Given the description of an element on the screen output the (x, y) to click on. 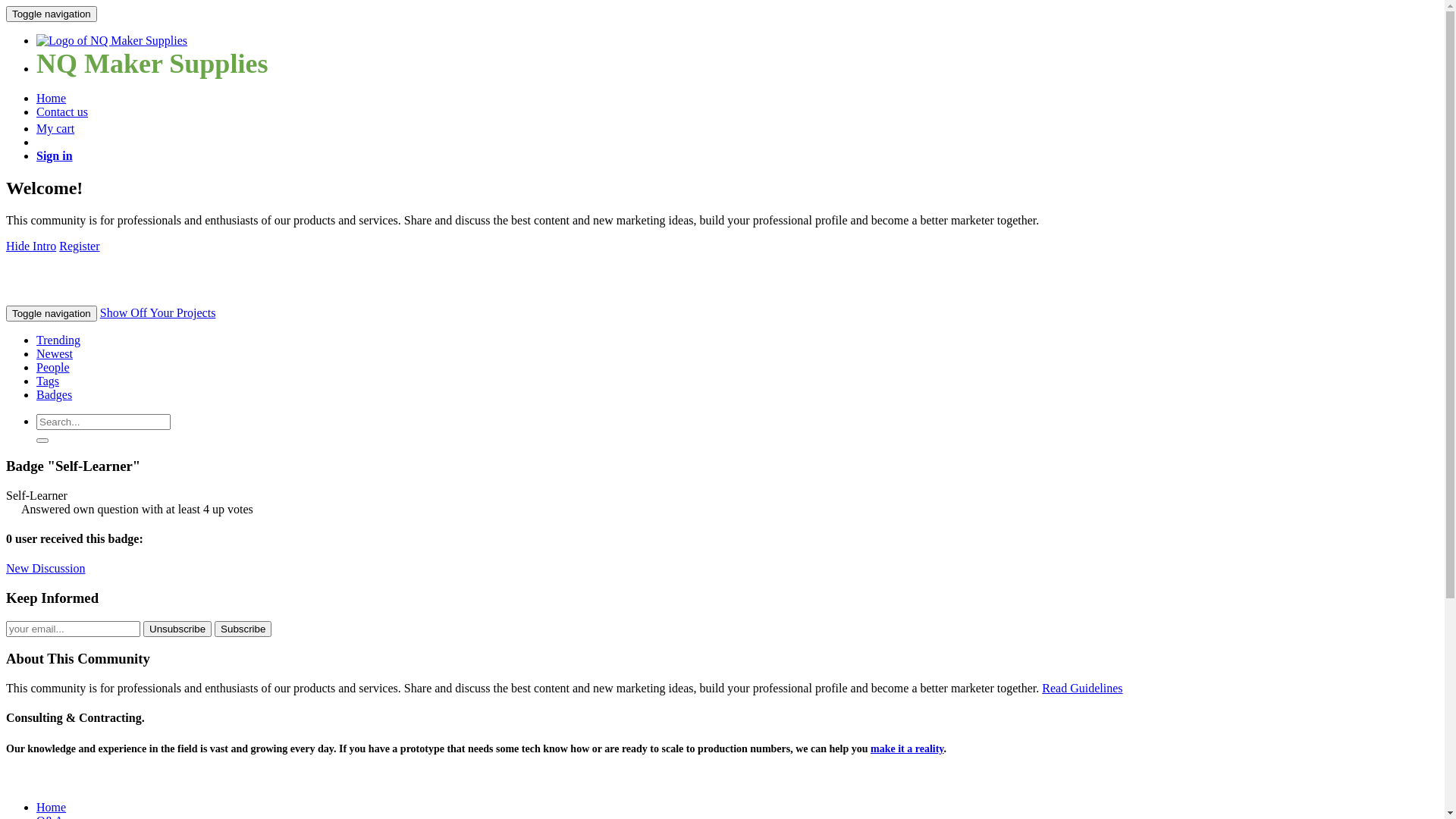
Tags Element type: text (47, 380)
Show Off Your Projects Element type: text (158, 312)
Register Element type: text (79, 245)
Hide Intro Element type: text (31, 245)
Toggle navigation Element type: text (51, 313)
NQ Maker Supplies Element type: text (151, 68)
Read Guidelines Element type: text (1081, 687)
make it a reality Element type: text (907, 748)
Sign in Element type: text (54, 155)
Trending Element type: text (58, 339)
Badges Element type: text (54, 394)
New Discussion Element type: text (45, 567)
My cart Element type: text (55, 128)
People Element type: text (52, 366)
Home Element type: text (50, 806)
Home Element type: text (50, 97)
Toggle navigation Element type: text (51, 13)
Unsubscribe Element type: text (177, 629)
Newest Element type: text (54, 353)
Contact us Element type: text (61, 111)
Subscribe Element type: text (242, 629)
NQ Maker Supplies Element type: hover (111, 40)
